Given the description of an element on the screen output the (x, y) to click on. 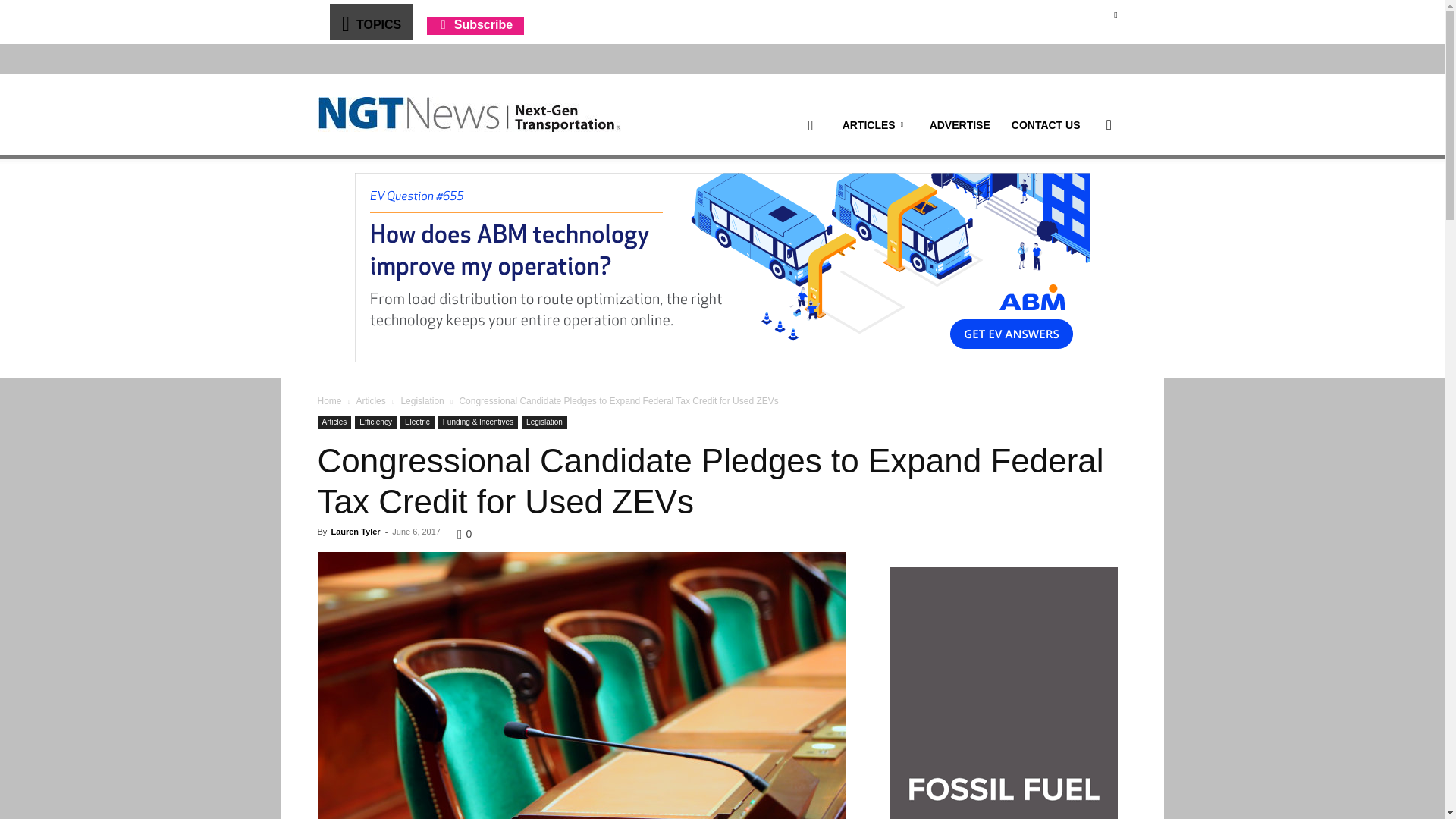
Subscribe (475, 24)
Search (1085, 197)
NGT News (468, 114)
Twitter (1114, 14)
TOPICS (370, 22)
Alternative Fuel News, CNG News (468, 114)
ARTICLES (874, 124)
